Given the description of an element on the screen output the (x, y) to click on. 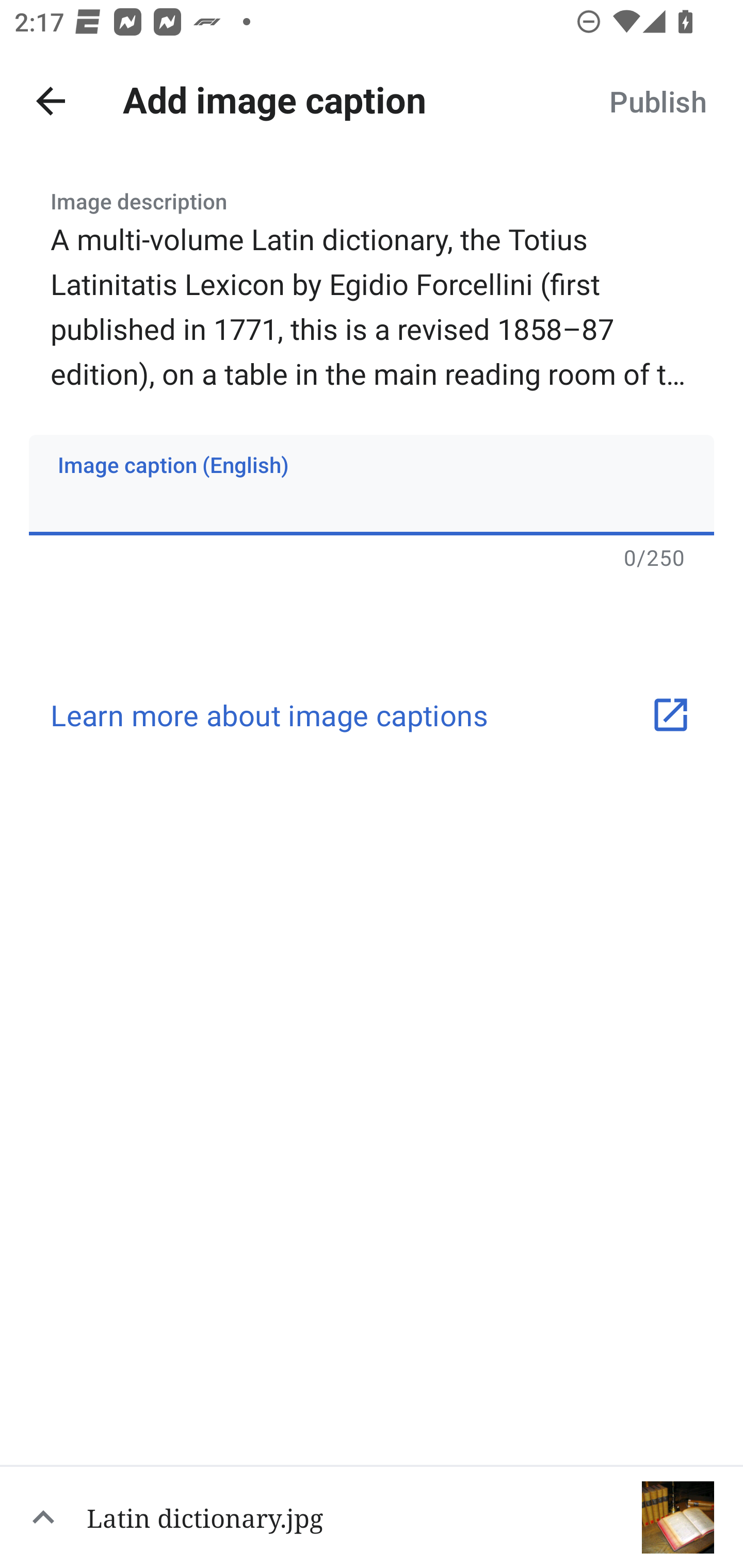
Cancel (50, 101)
Publish (657, 101)
Image caption (English) (371, 484)
Learn more about image captions (371, 714)
Latin dictionary.jpg (371, 1516)
